Given the description of an element on the screen output the (x, y) to click on. 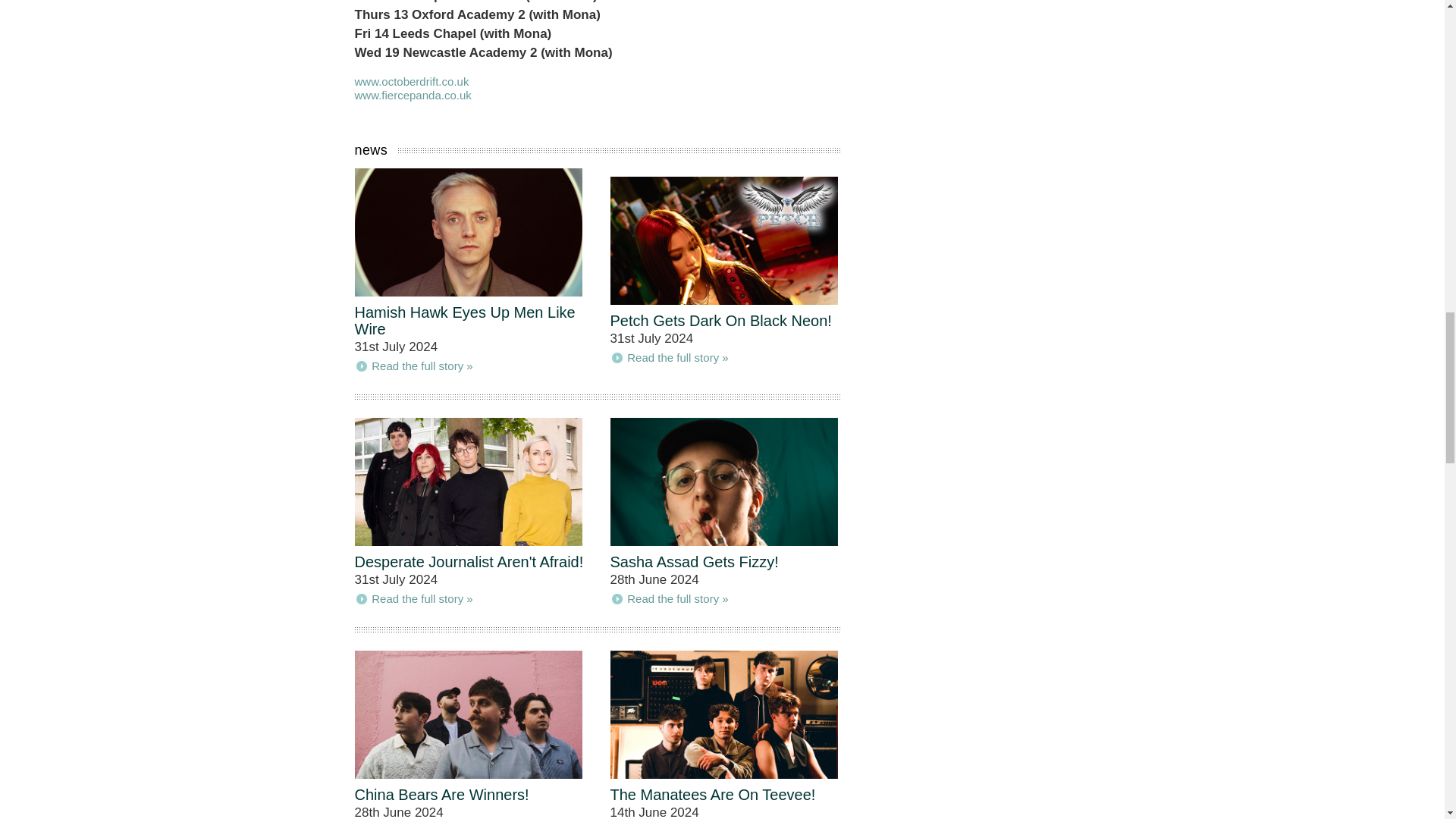
The Manatees Are On Teevee! (712, 794)
www.fiercepanda.co.uk (413, 94)
Hamish Hawk Eyes Up Men Like Wire (465, 320)
China Bears Are Winners! (442, 794)
Petch Gets Dark On Black Neon! (720, 320)
Desperate Journalist Aren't Afraid! (469, 561)
www.octoberdrift.co.uk (411, 81)
Sasha Assad Gets Fizzy! (693, 561)
